Given the description of an element on the screen output the (x, y) to click on. 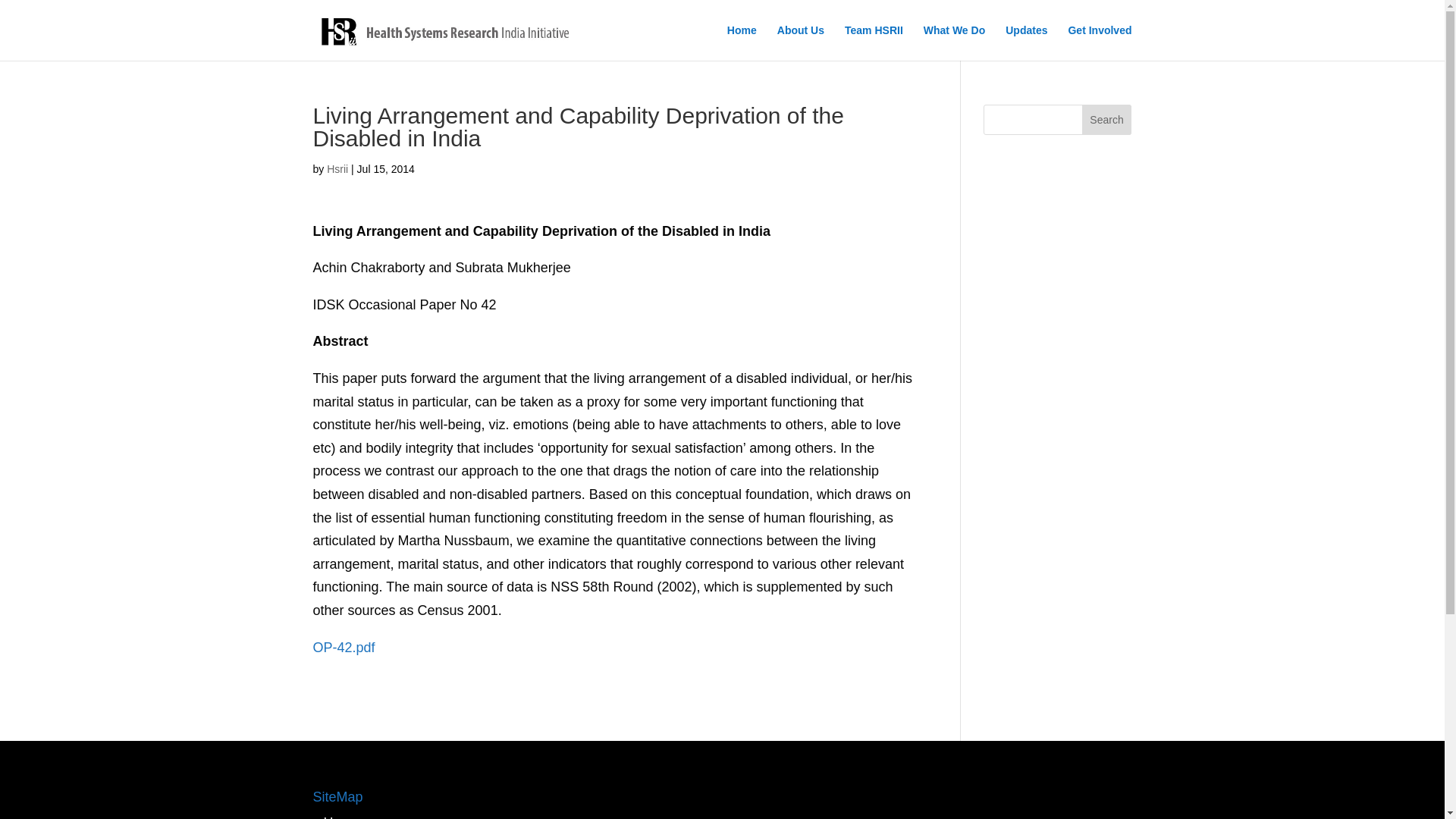
Search (1106, 119)
Search (1106, 119)
OP-42.pdf (343, 647)
Team HSRII (873, 42)
Get Involved (1099, 42)
About Us (800, 42)
Home (341, 816)
What We Do (954, 42)
Posts by Hsrii (336, 168)
Updates (1026, 42)
Hsrii (336, 168)
